Given the description of an element on the screen output the (x, y) to click on. 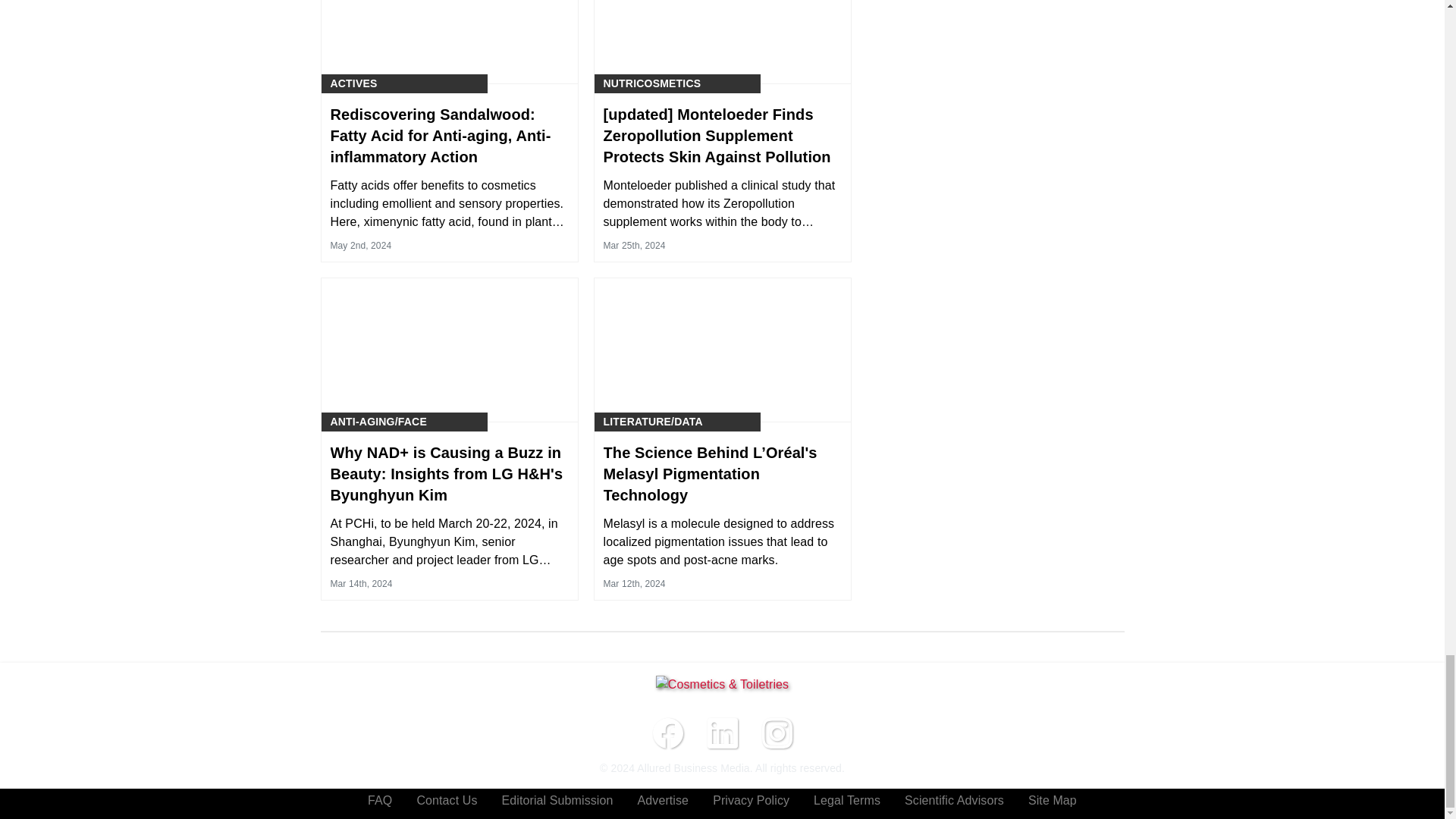
Instagram icon (776, 733)
Facebook icon (667, 733)
LinkedIn icon (721, 733)
